Given the description of an element on the screen output the (x, y) to click on. 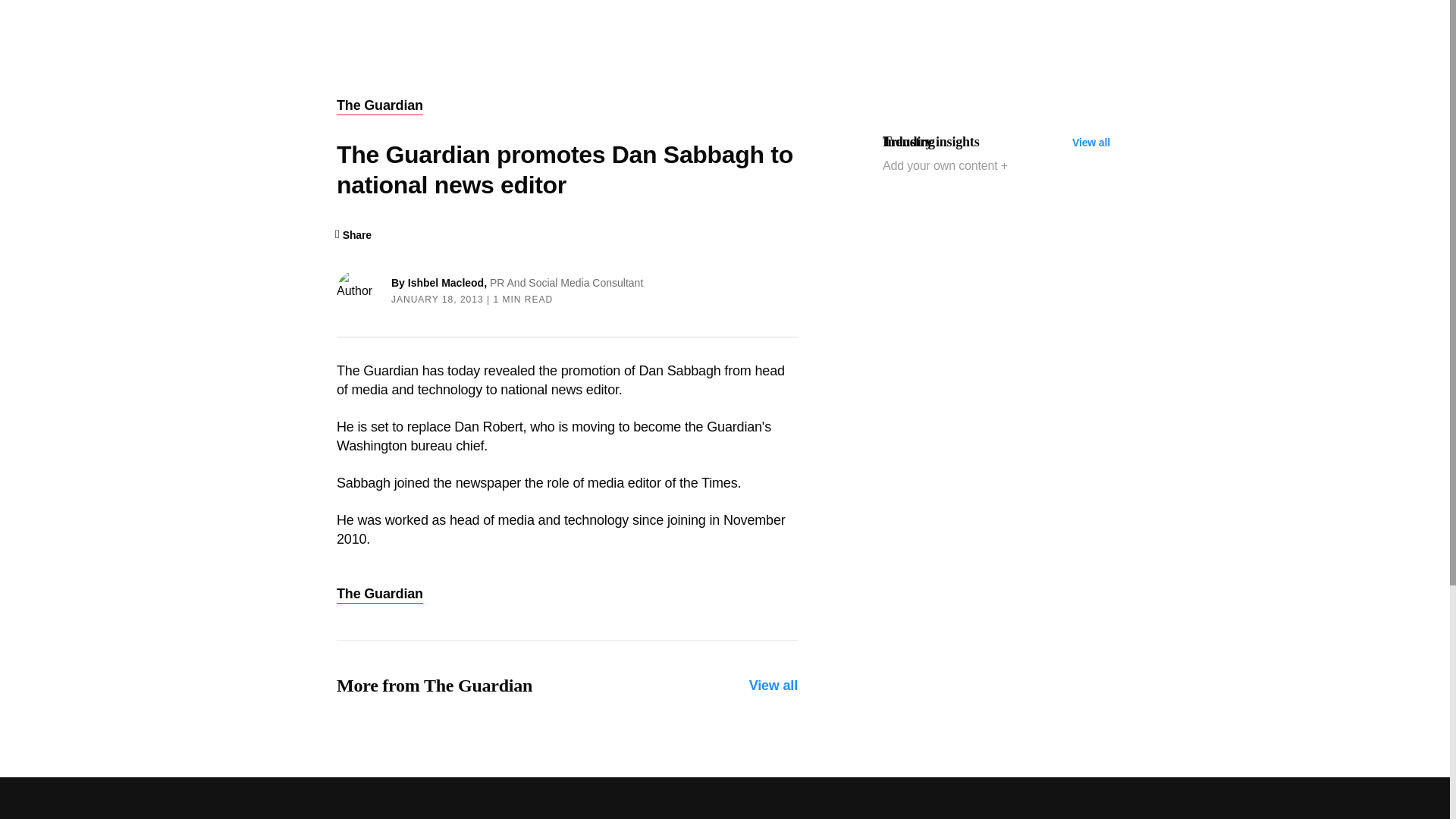
The Guardian (379, 594)
Share (353, 234)
Ishbel Macleod, (448, 282)
View all (1090, 142)
View all (773, 685)
The Guardian (379, 106)
